Given the description of an element on the screen output the (x, y) to click on. 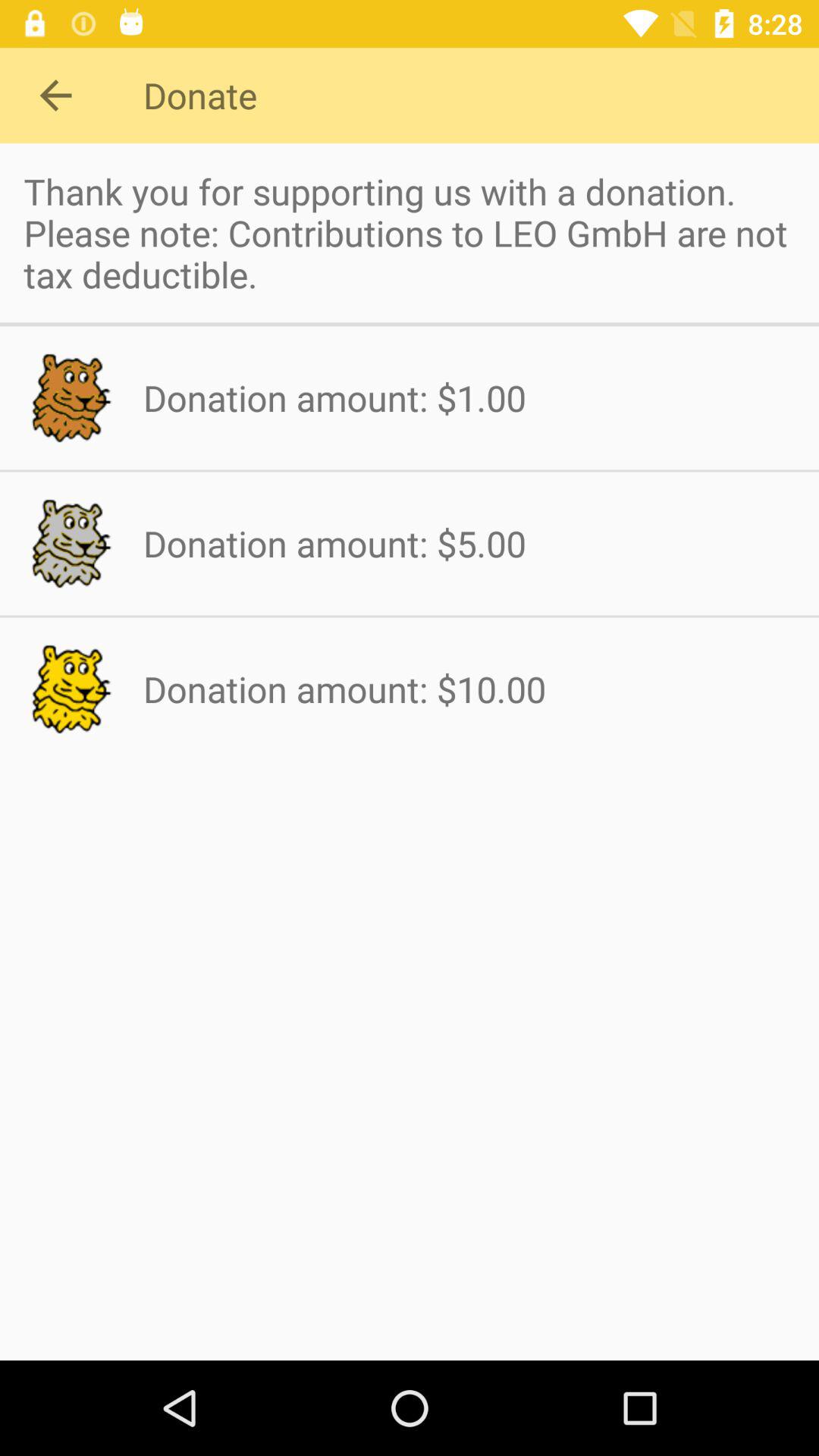
select the item next to the donate icon (55, 95)
